Given the description of an element on the screen output the (x, y) to click on. 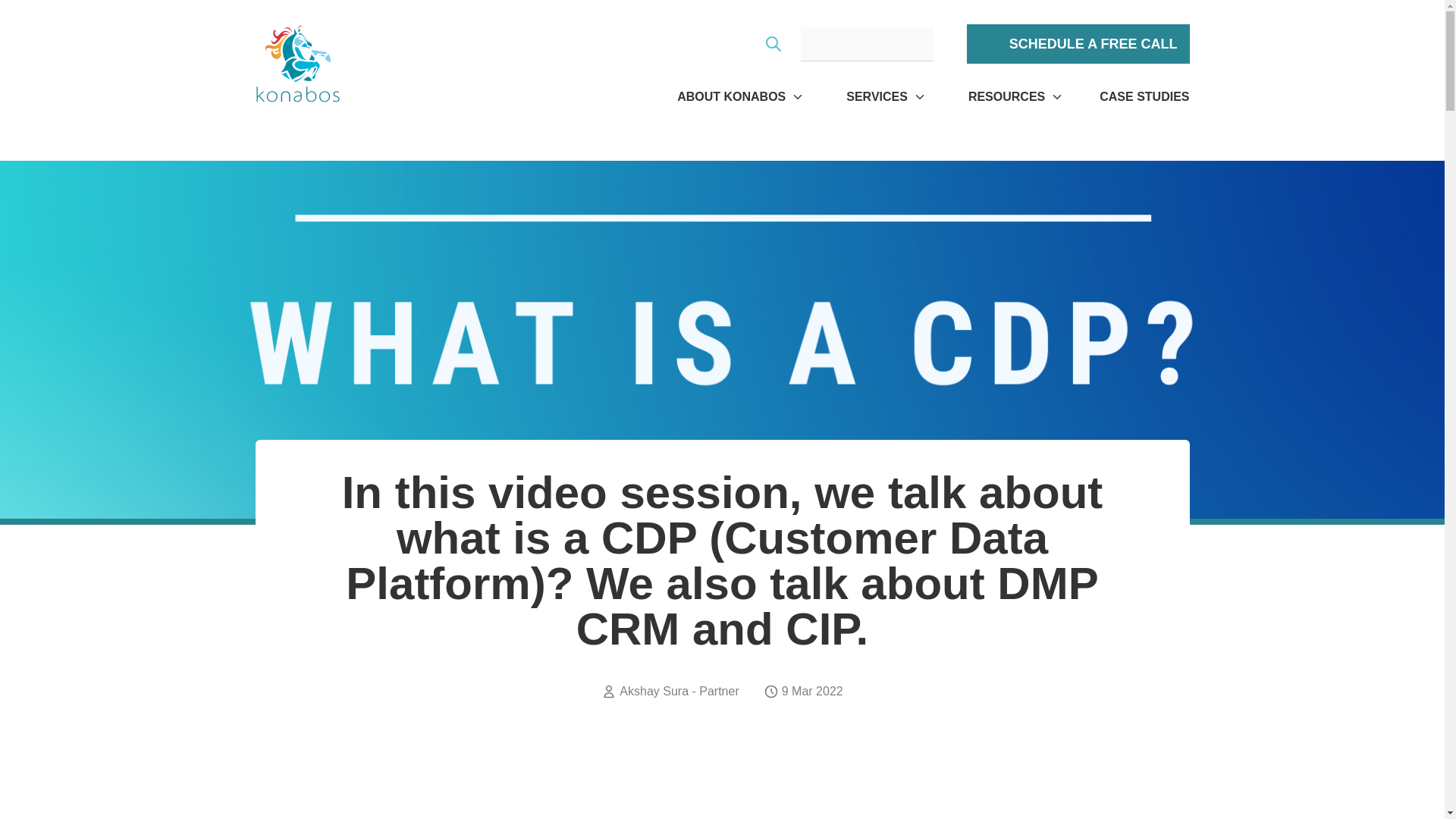
SCHEDULE A FREE CALL (1077, 43)
CASE STUDIES (1144, 96)
Konabos Logo (296, 63)
node (722, 790)
